Given the description of an element on the screen output the (x, y) to click on. 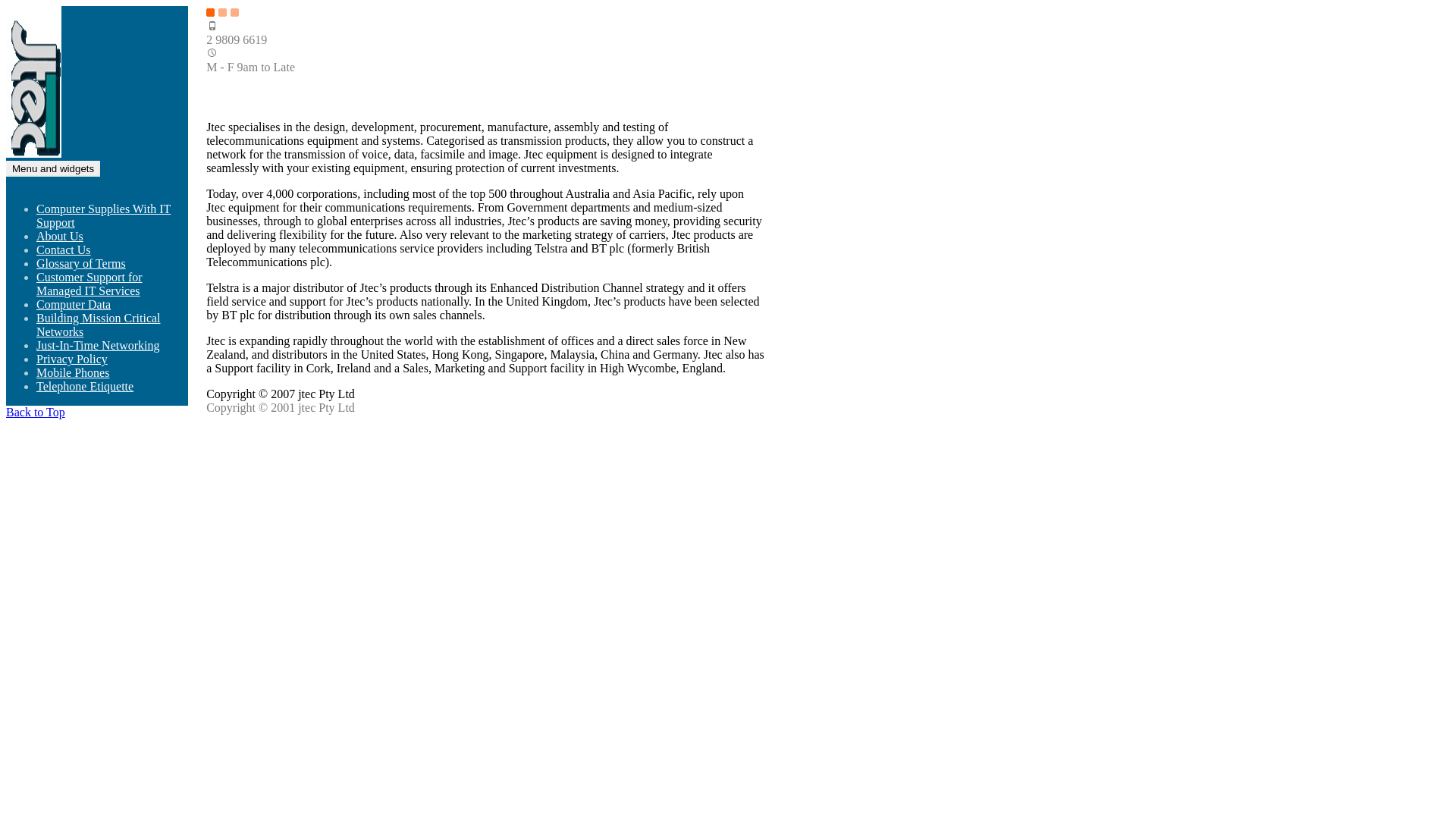
Menu and widgets Element type: text (53, 168)
Privacy Policy Element type: text (71, 358)
Computer Supplies With IT Support Element type: text (103, 215)
Customer Support for Managed IT Services Element type: text (89, 283)
jtec Pty Ltd Element type: text (34, 178)
Mobile Phones Element type: text (72, 372)
About Us Element type: text (59, 235)
Contact Us Element type: text (63, 249)
Telephone Etiquette Element type: text (84, 385)
Skip to content Element type: text (5, 5)
genericon-phone Element type: hover (212, 25)
Building Mission Critical Networks Element type: text (98, 324)
Computer Data Element type: text (73, 304)
Back to Top Element type: text (35, 411)
Just-In-Time Networking Element type: text (98, 344)
Glossary of Terms Element type: text (80, 263)
